Given the description of an element on the screen output the (x, y) to click on. 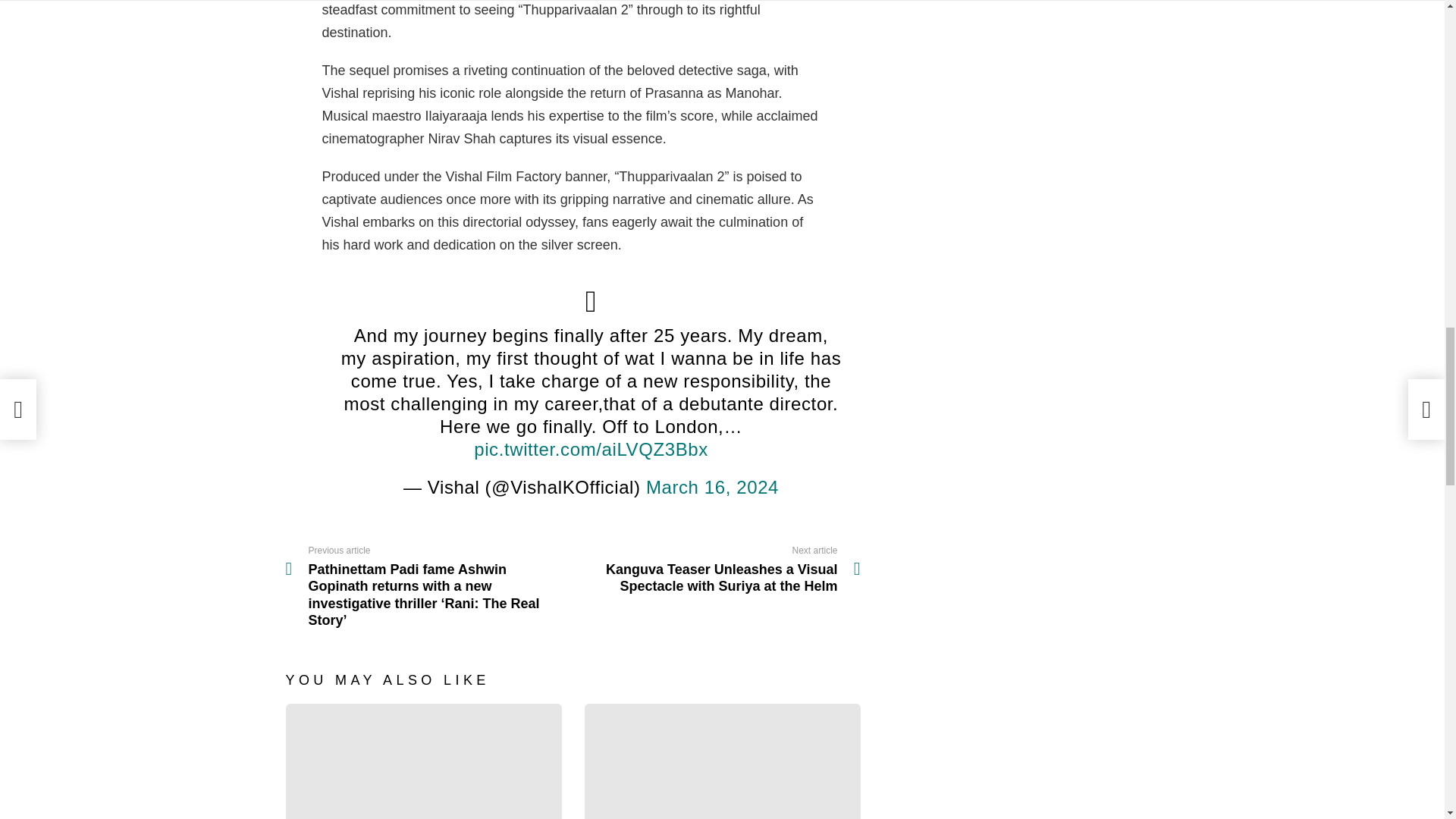
March 16, 2024 (712, 486)
